Given the description of an element on the screen output the (x, y) to click on. 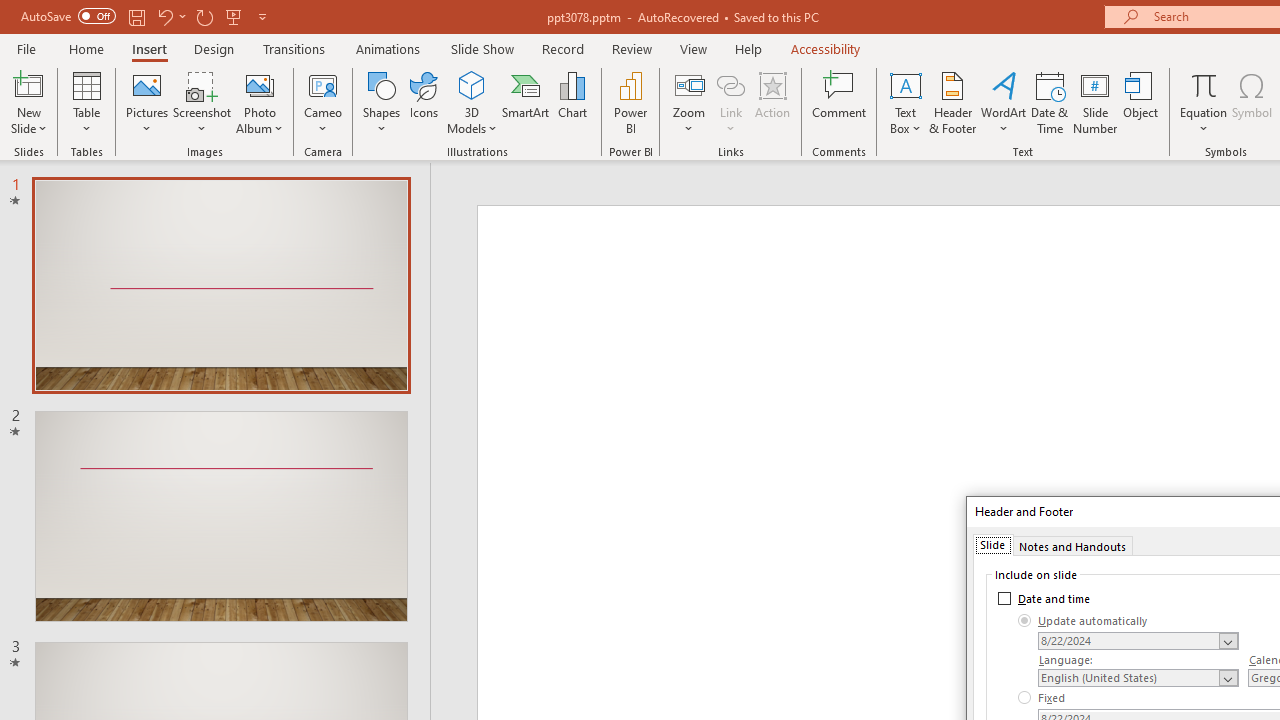
Date & Time... (1050, 102)
Fixed (1042, 697)
Language (1138, 677)
Link (731, 102)
Photo Album... (259, 102)
Symbol... (1252, 102)
Chart... (572, 102)
